Given the description of an element on the screen output the (x, y) to click on. 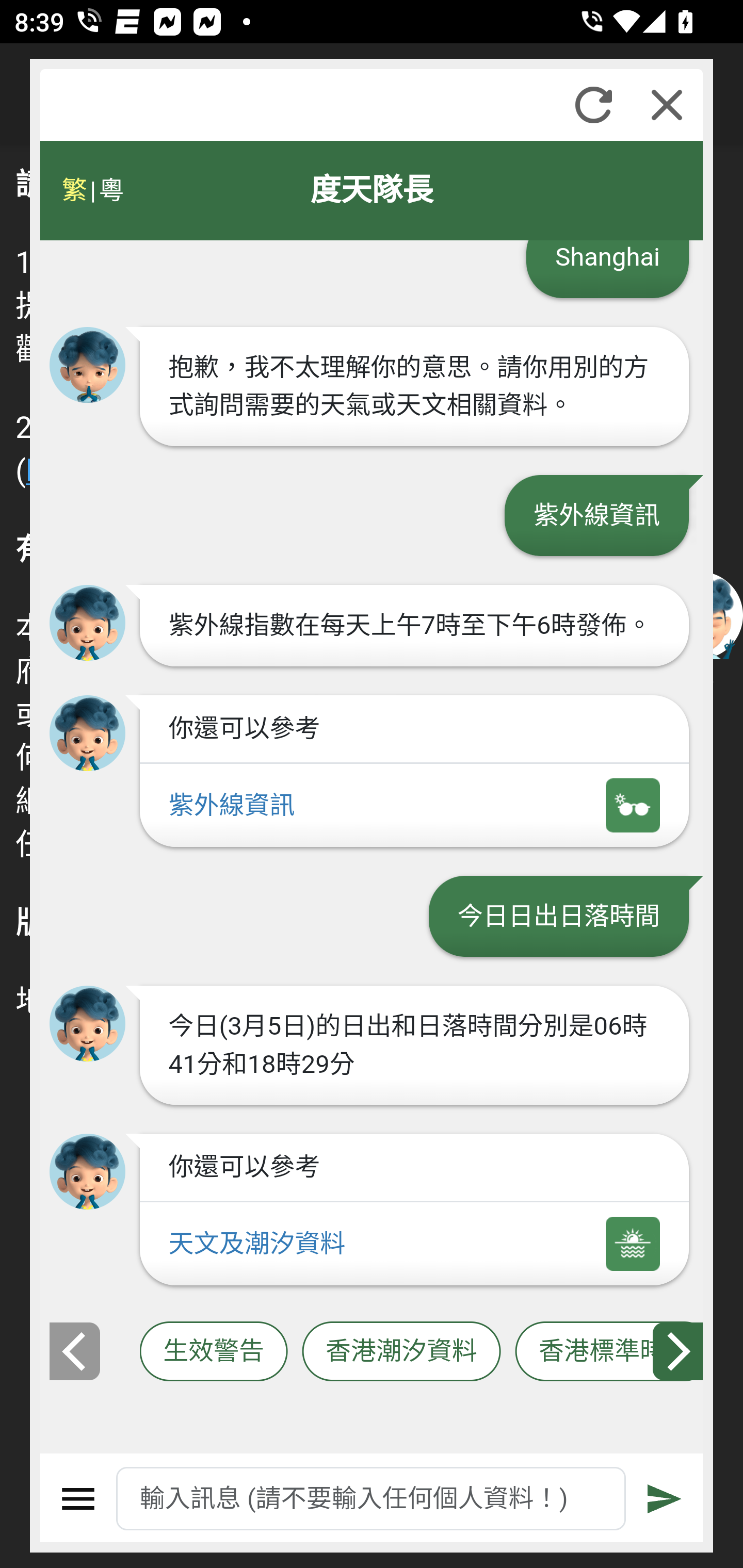
重新整理 (593, 104)
關閉 (666, 104)
繁 (73, 190)
粵 (110, 190)
紫外線資訊 (413, 805)
天文及潮汐資料 (413, 1244)
上一張 (74, 1351)
生效警告 (213, 1351)
香港潮汐資料 (401, 1351)
香港標準時間 (609, 1351)
下一張 (678, 1351)
選單 (78, 1498)
遞交 (665, 1498)
